Given the description of an element on the screen output the (x, y) to click on. 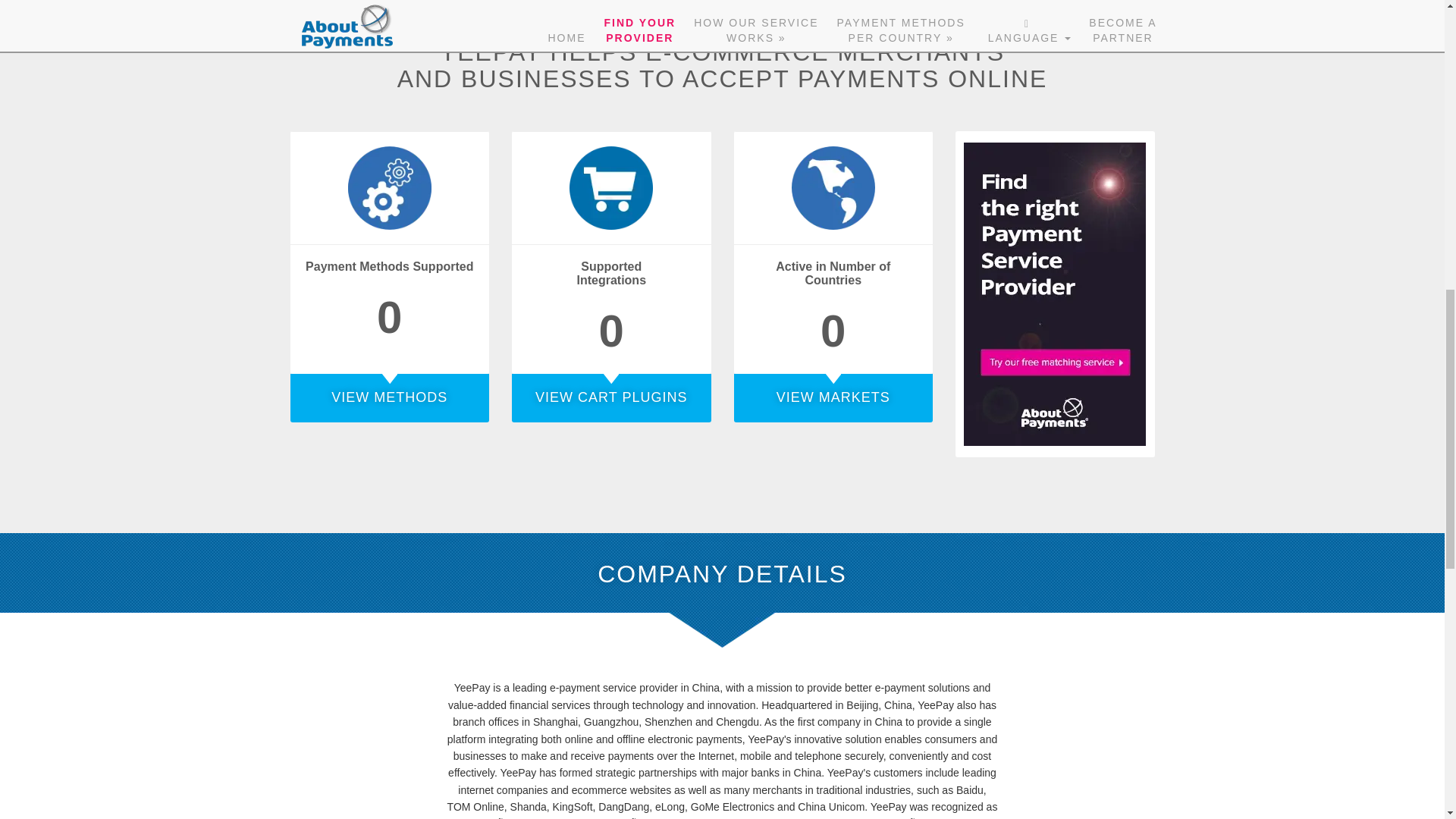
VIEW CART PLUGINS (611, 397)
VIEW MARKETS (833, 397)
VIEW METHODS (389, 397)
